Given the description of an element on the screen output the (x, y) to click on. 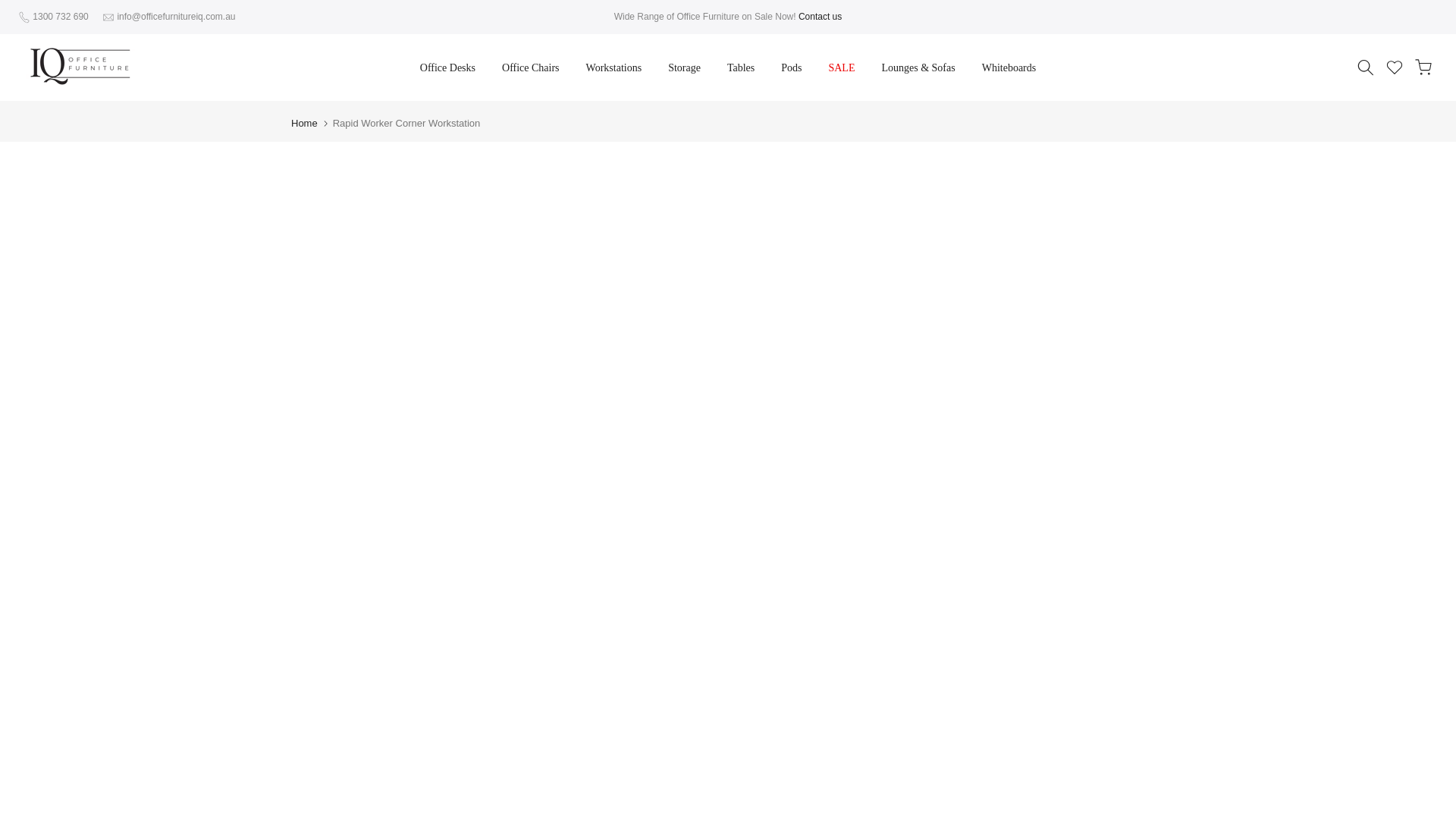
1300 732 690 (59, 16)
Whiteboards (1008, 67)
Skip to content (10, 7)
SALE (841, 67)
Workstations (613, 67)
Tables (740, 67)
Office Desks (446, 67)
Storage (684, 67)
Pods (791, 67)
Office Chairs (531, 67)
